Given the description of an element on the screen output the (x, y) to click on. 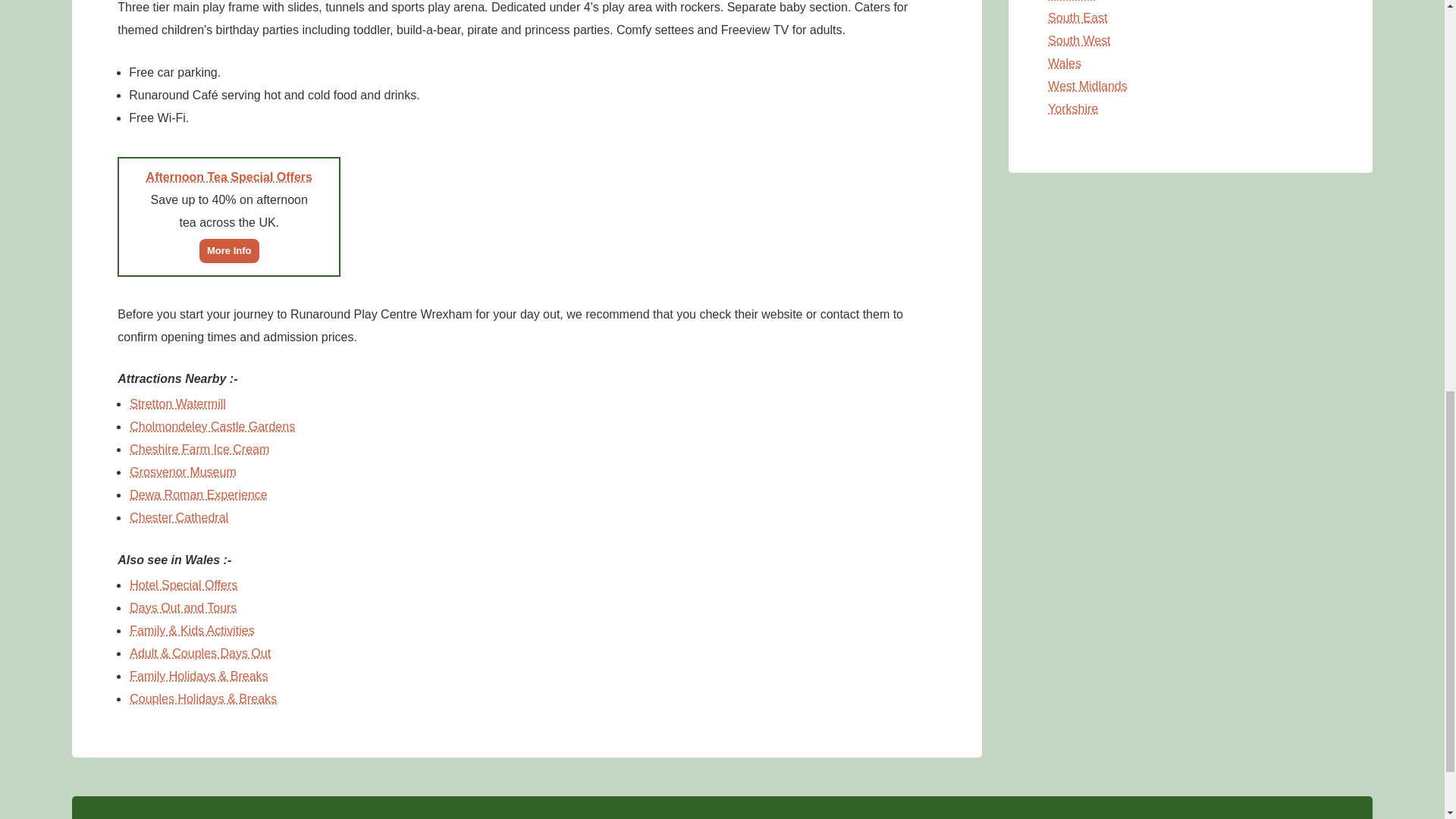
South East (1077, 17)
Wales (1063, 62)
More Info (229, 248)
Cheshire Farm Ice Cream (199, 449)
Hotel Special Offers (183, 584)
Afternoon Tea Special Offers (229, 175)
Grosvenor Museum (183, 472)
Scotland (1071, 0)
West Midlands (1087, 85)
Days Out and Tours (183, 606)
Dewa Roman Experience (198, 494)
Yorkshire (1072, 108)
Cholmondeley Castle Gardens (212, 426)
Chester Cathedral (178, 517)
Stretton Watermill (178, 403)
